Given the description of an element on the screen output the (x, y) to click on. 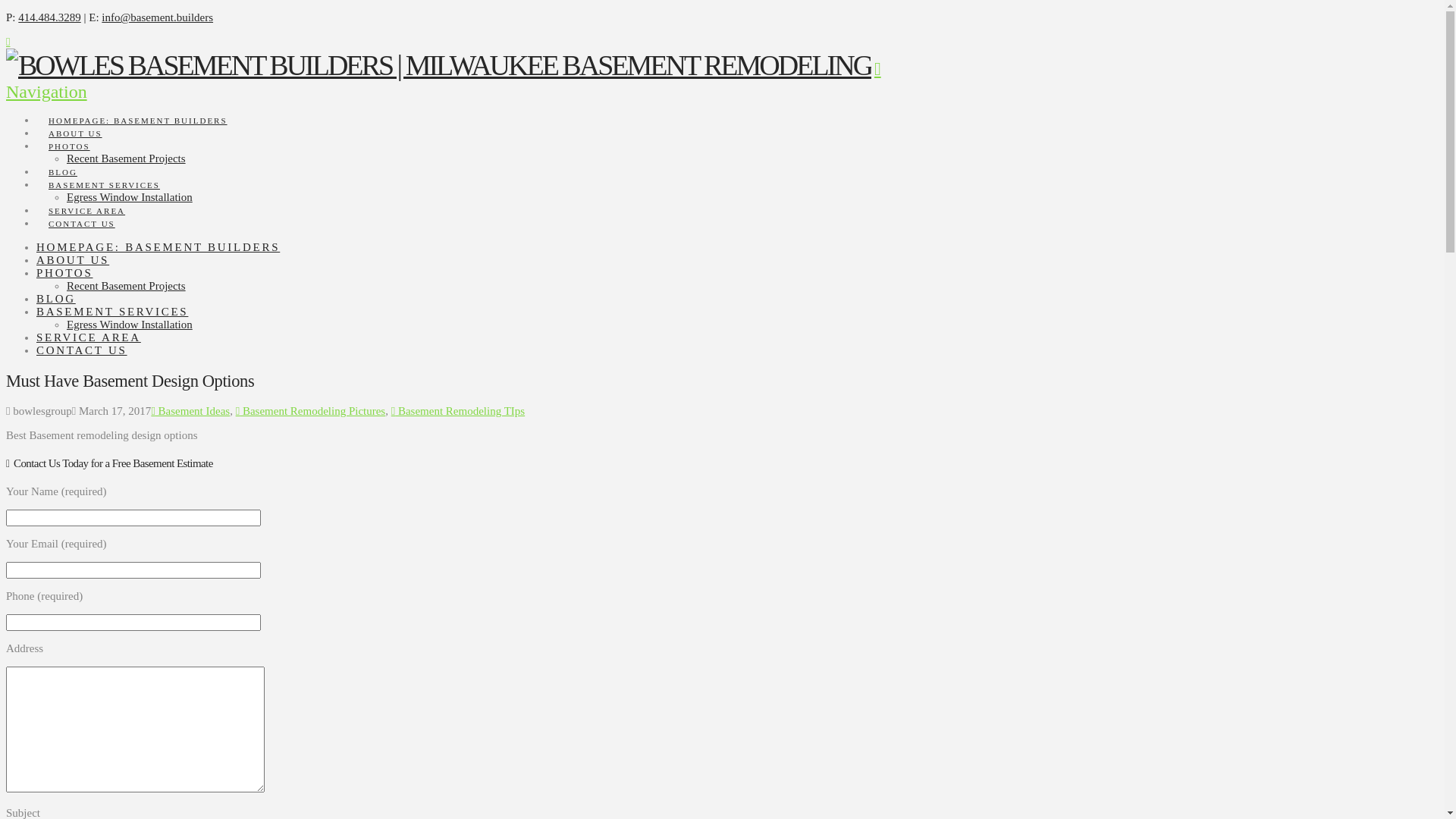
ABOUT US Element type: text (72, 260)
HOMEPAGE: BASEMENT BUILDERS Element type: text (137, 106)
SERVICE AREA Element type: text (85, 196)
BLOG Element type: text (55, 298)
Navigation Element type: text (443, 80)
Basement Ideas Element type: text (189, 410)
CONTACT US Element type: text (80, 209)
BASEMENT SERVICES Element type: text (103, 170)
PHOTOS Element type: text (68, 131)
Facebook Element type: hover (7, 41)
CONTACT US Element type: text (81, 350)
Egress Window Installation Element type: text (129, 324)
BASEMENT SERVICES Element type: text (112, 311)
Recent Basement Projects Element type: text (125, 158)
PHOTOS Element type: text (64, 272)
ABOUT US Element type: text (74, 119)
Basement Remodeling TIps Element type: text (457, 410)
Basement Remodeling Pictures Element type: text (310, 410)
BLOG Element type: text (61, 157)
Recent Basement Projects Element type: text (125, 285)
info@basement.builders Element type: text (157, 17)
414.484.3289 Element type: text (49, 17)
SERVICE AREA Element type: text (88, 337)
HOMEPAGE: BASEMENT BUILDERS Element type: text (157, 247)
Egress Window Installation Element type: text (129, 197)
